Given the description of an element on the screen output the (x, y) to click on. 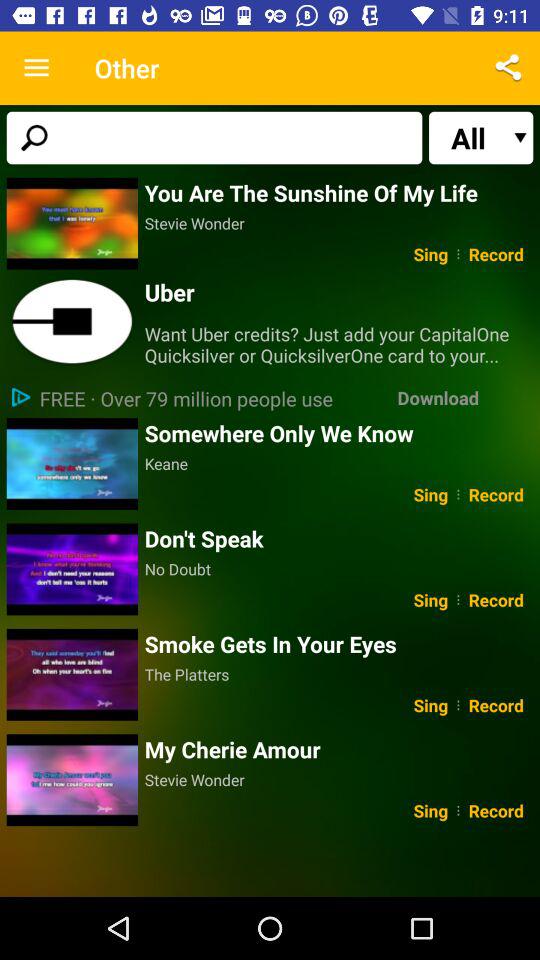
select the item below sing item (338, 749)
